Given the description of an element on the screen output the (x, y) to click on. 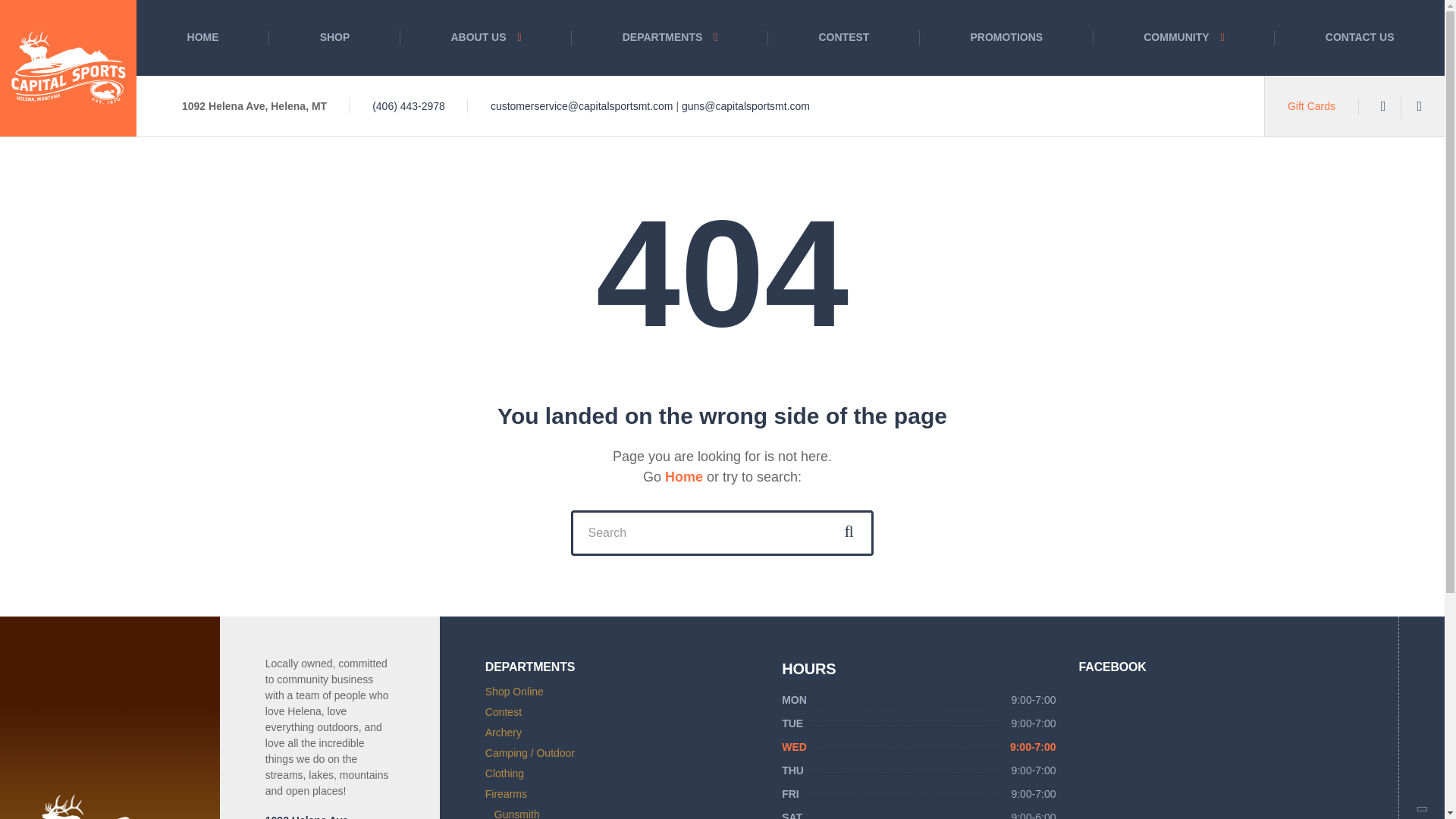
PROMOTIONS (1006, 38)
COMMUNITY (1184, 38)
HOME (202, 38)
CONTEST (844, 38)
ABOUT US (486, 38)
DEPARTMENTS (670, 38)
SHOP (334, 38)
Home (684, 476)
Gift Cards (1311, 105)
